Given the description of an element on the screen output the (x, y) to click on. 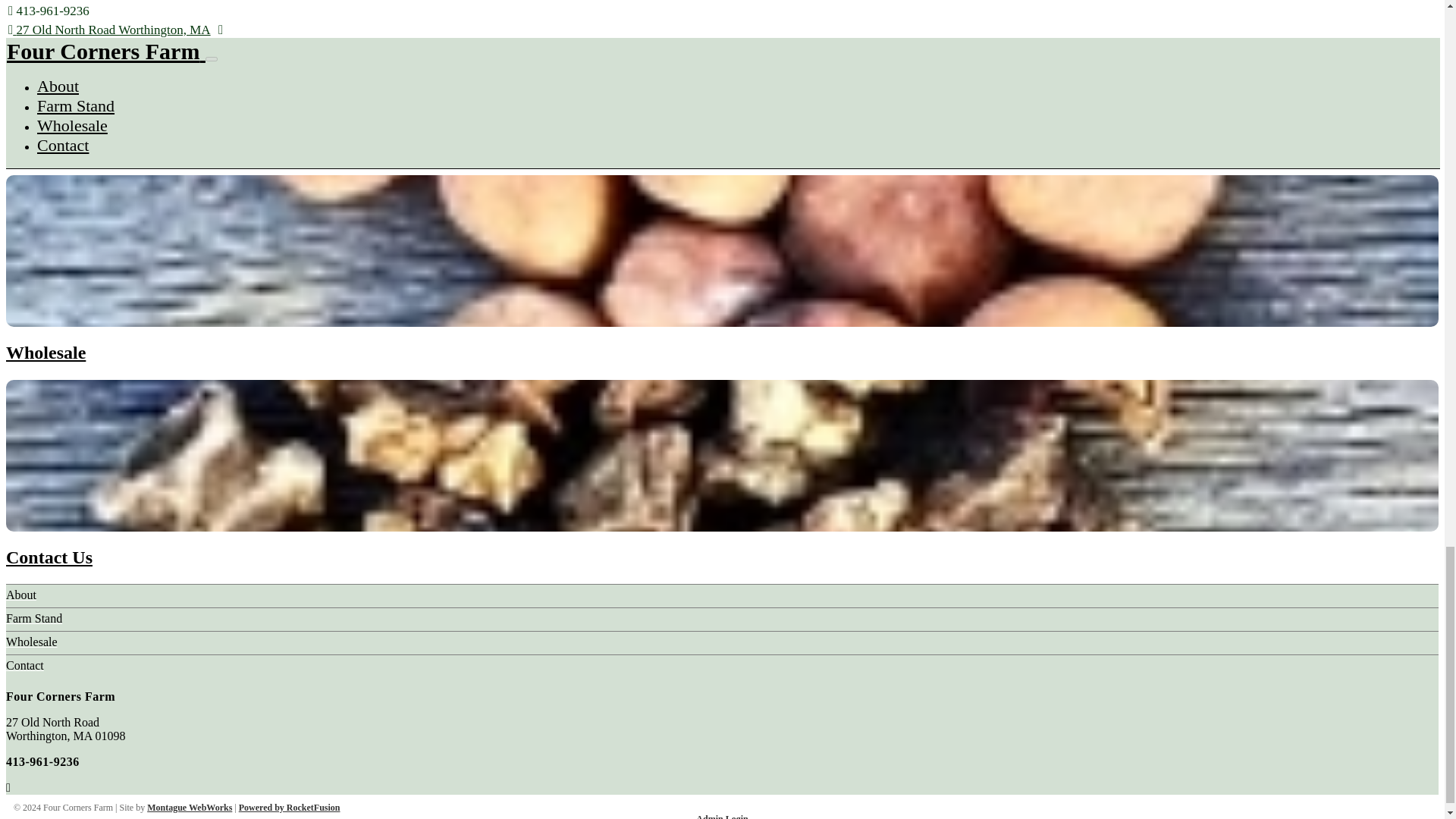
Contact Us (49, 557)
Farm Stand (52, 148)
Wholesale (31, 641)
Farm Stand (33, 617)
Wholesale (45, 352)
Montague WebWorks (189, 807)
Contact (24, 665)
Powered by RocketFusion (289, 807)
Contact (24, 665)
About (20, 594)
